Given the description of an element on the screen output the (x, y) to click on. 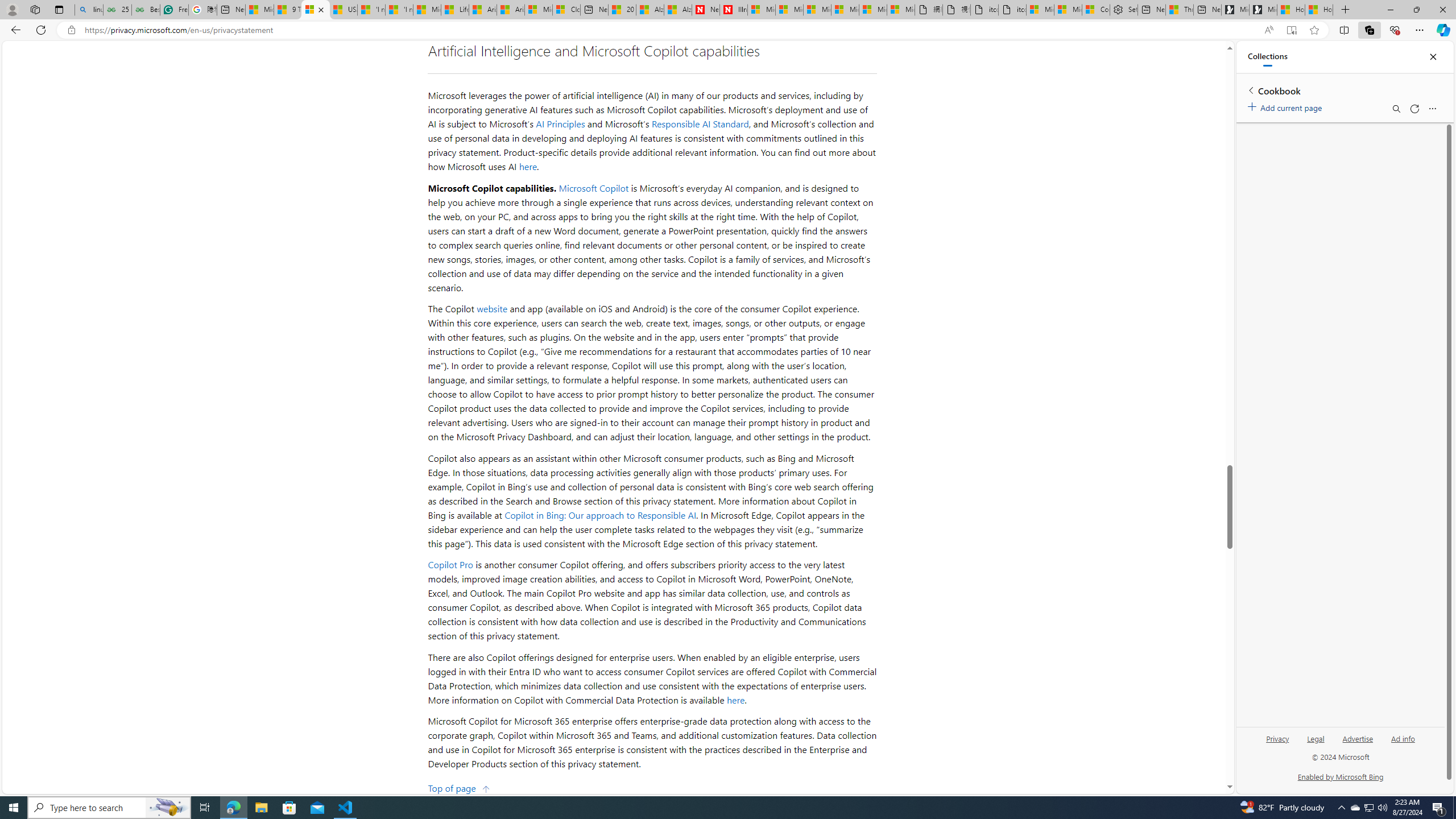
linux basic - Search (88, 9)
Back to list of collections (1250, 90)
USA TODAY - MSN (343, 9)
